Given the description of an element on the screen output the (x, y) to click on. 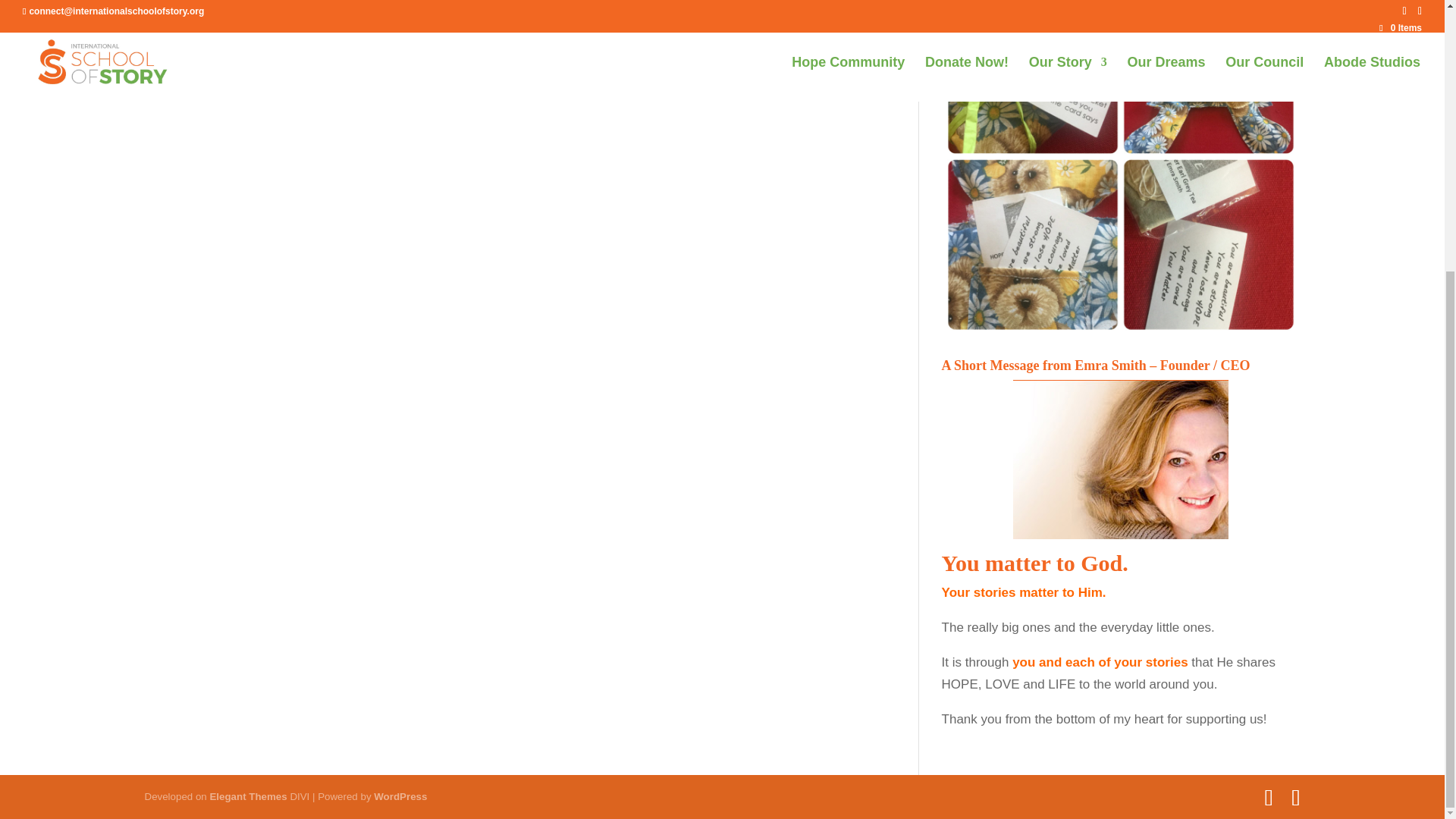
WordPress (400, 796)
Premium WordPress Themes (247, 796)
Elegant Themes (247, 796)
